Given the description of an element on the screen output the (x, y) to click on. 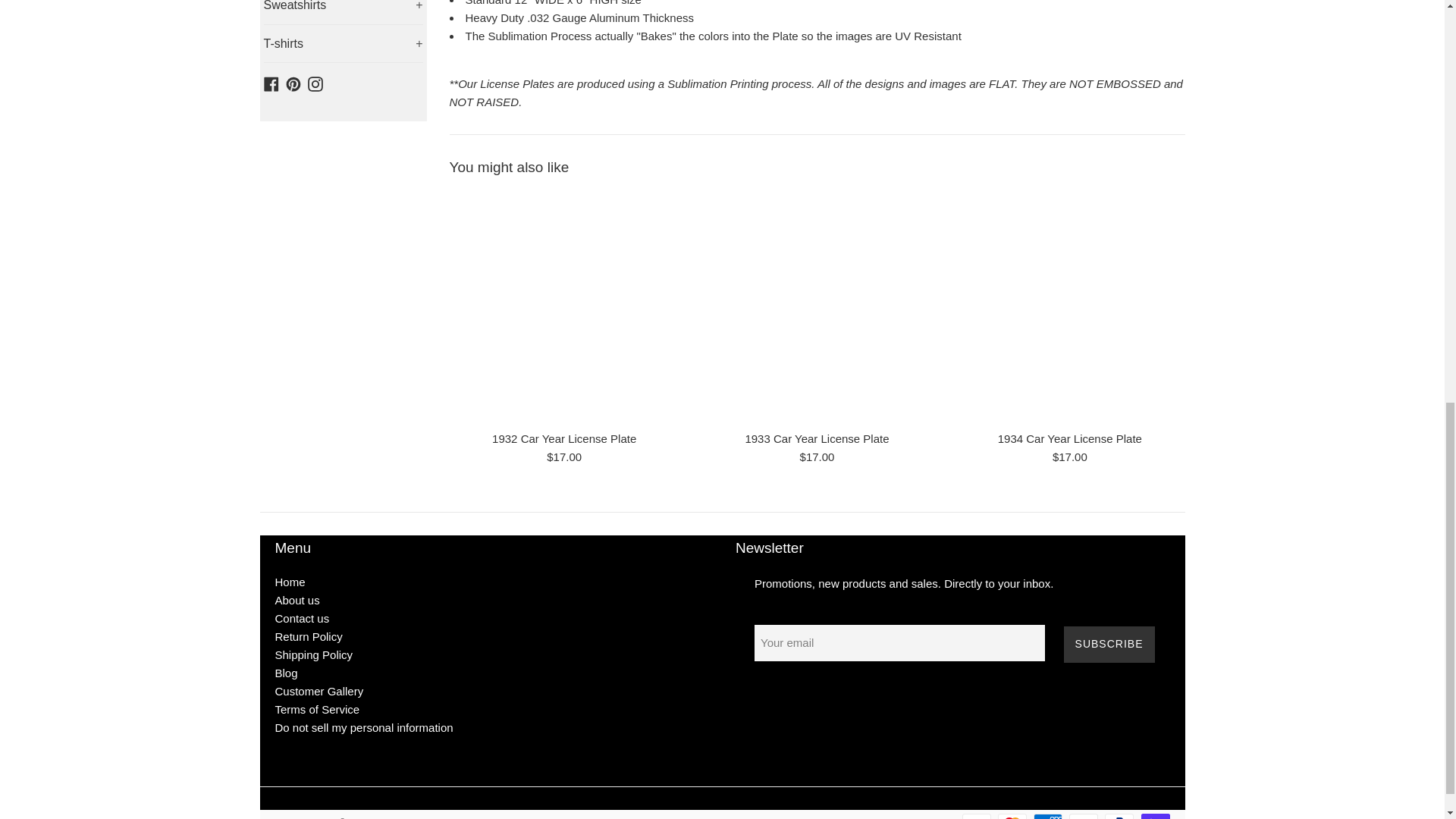
1934 Car Year License Plate (1070, 307)
1932 Car Year License Plate (563, 307)
Shop Pay (1154, 816)
Automotive Vintage on Instagram (315, 82)
American Express (1047, 816)
1933 Car Year License Plate (816, 307)
Automotive Vintage on Pinterest (293, 82)
Visa (976, 816)
Mastercard (1011, 816)
Automotive Vintage on Facebook (271, 82)
PayPal (1119, 816)
Discover (1082, 816)
